Given the description of an element on the screen output the (x, y) to click on. 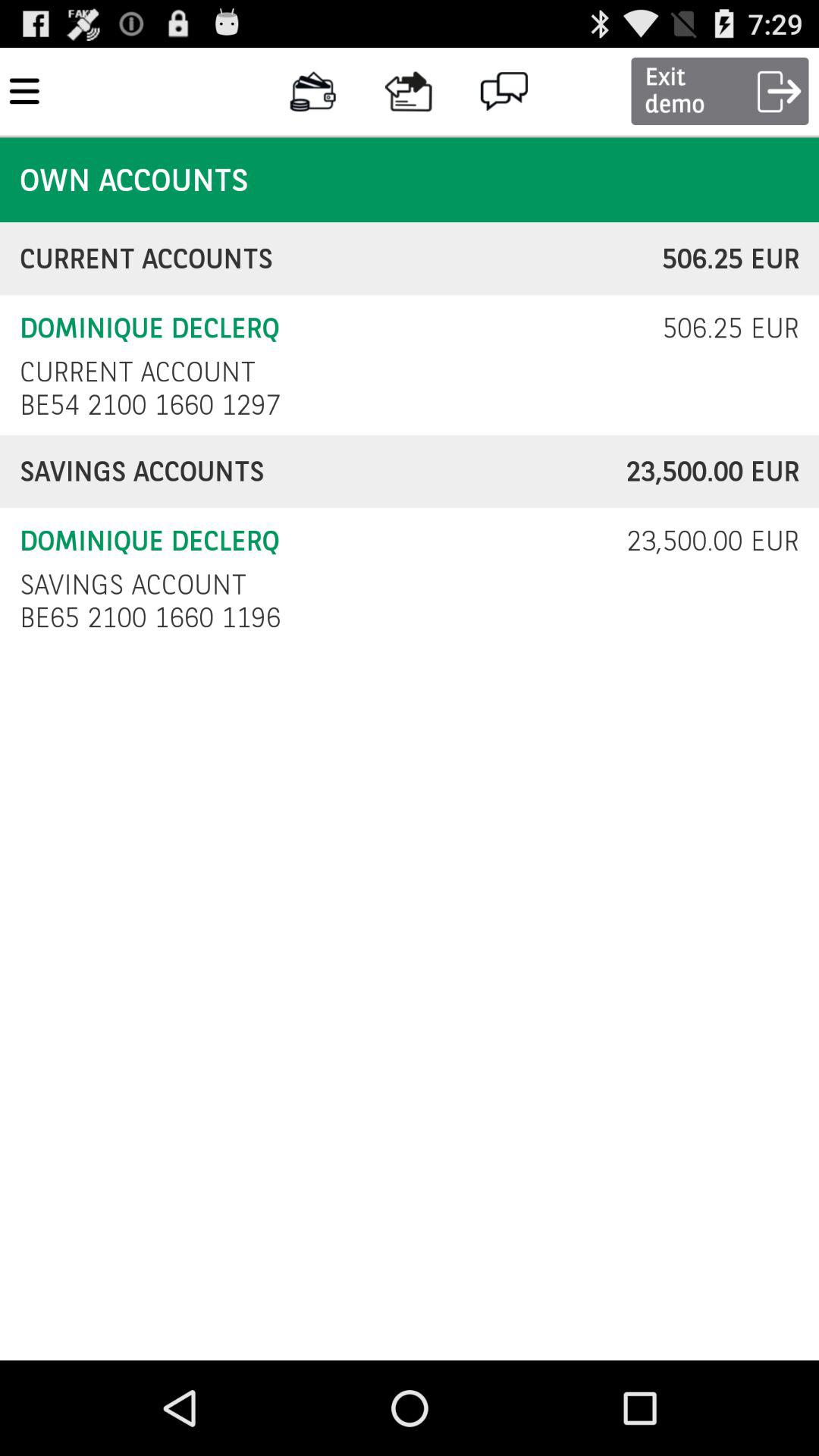
turn off be65 2100 1660 checkbox (153, 617)
